Given the description of an element on the screen output the (x, y) to click on. 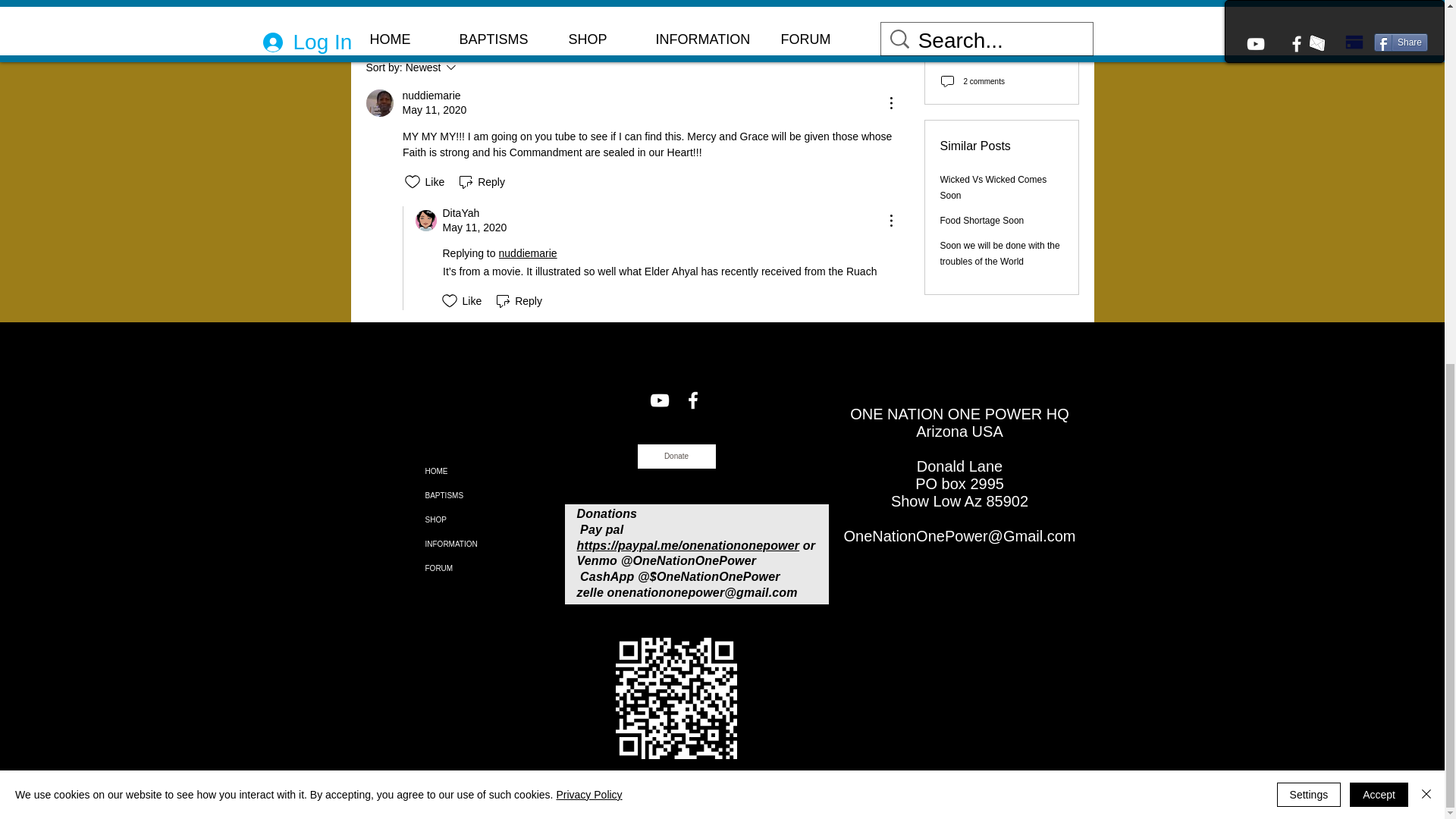
DitaYah (461, 213)
Reply (517, 300)
Reply (481, 181)
nuddiemarie (529, 253)
nuddiemarie (379, 103)
Write a comment... (632, 19)
DitaYah (425, 219)
nuddiemarie (471, 67)
